Given the description of an element on the screen output the (x, y) to click on. 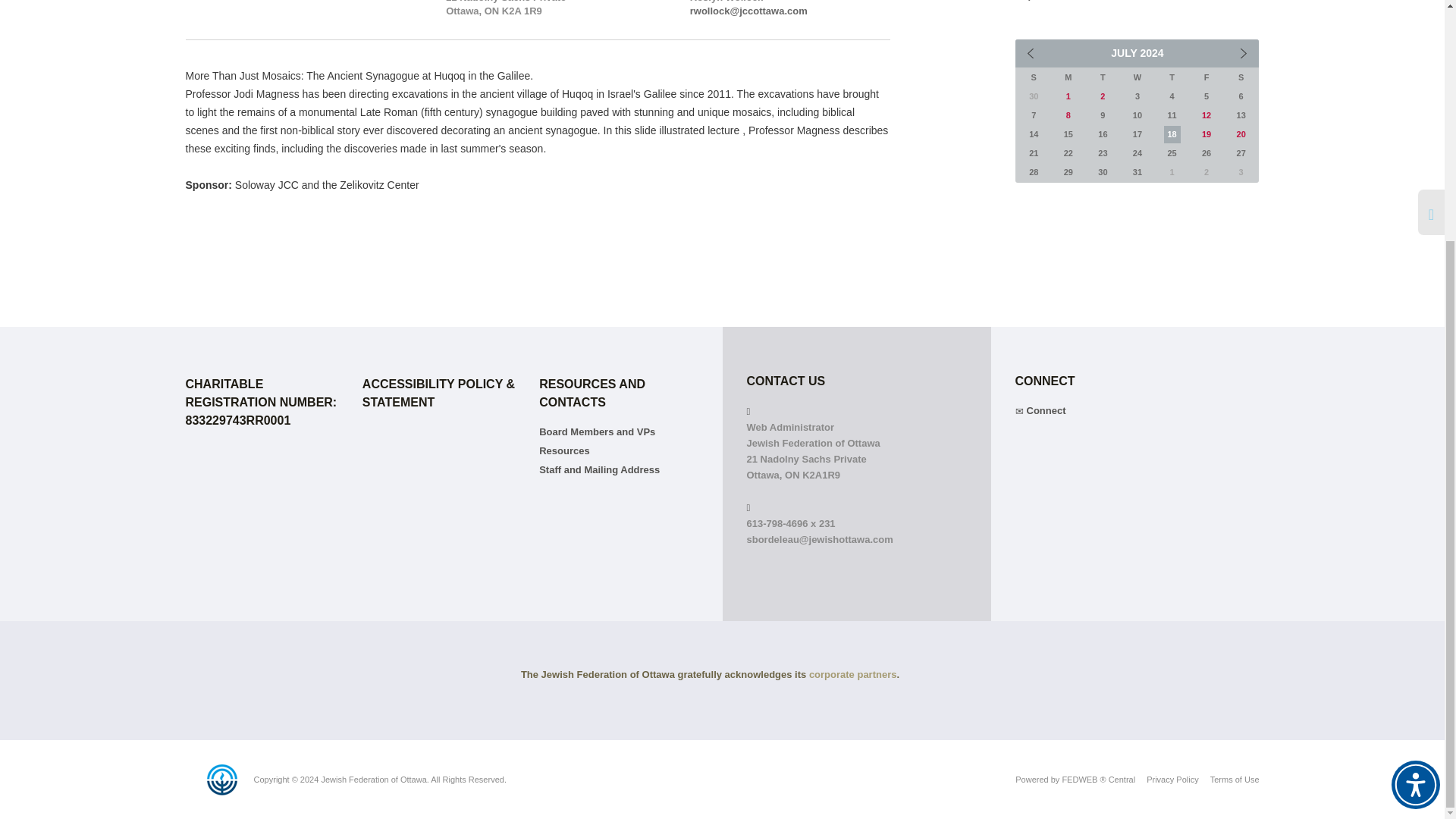
Saturday (1241, 76)
Thursday (1171, 76)
Friday (1206, 76)
Prev (1030, 53)
Tuesday (1102, 76)
Wednesday (1137, 76)
Accessibility Menu (1415, 452)
Next (1243, 53)
Monday (1067, 76)
Sunday (1033, 76)
